Given the description of an element on the screen output the (x, y) to click on. 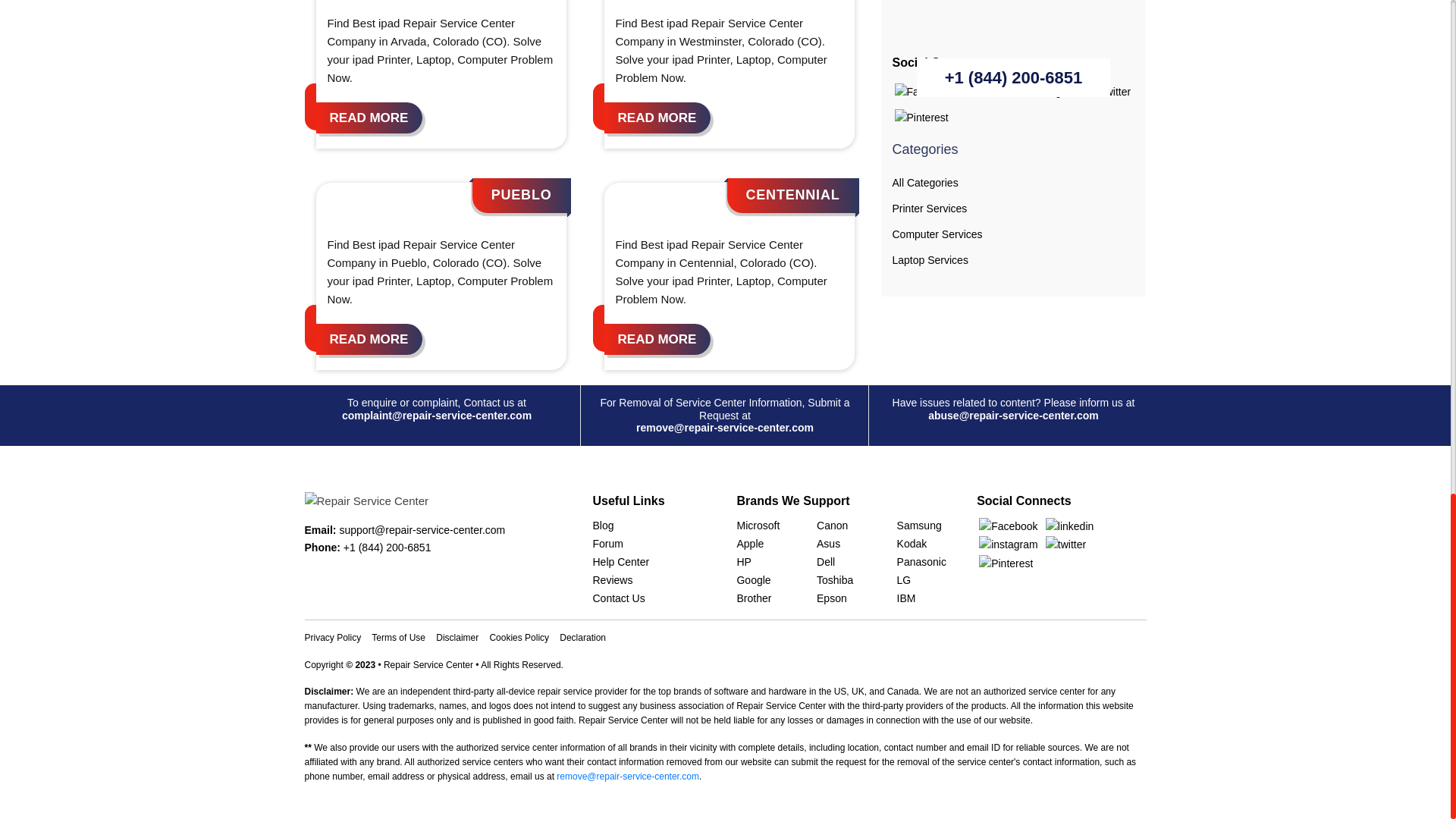
READ MORE (657, 338)
READ MORE (368, 117)
READ MORE (657, 117)
READ MORE (368, 338)
CENTENNIAL (792, 194)
PUEBLO (521, 194)
